Given the description of an element on the screen output the (x, y) to click on. 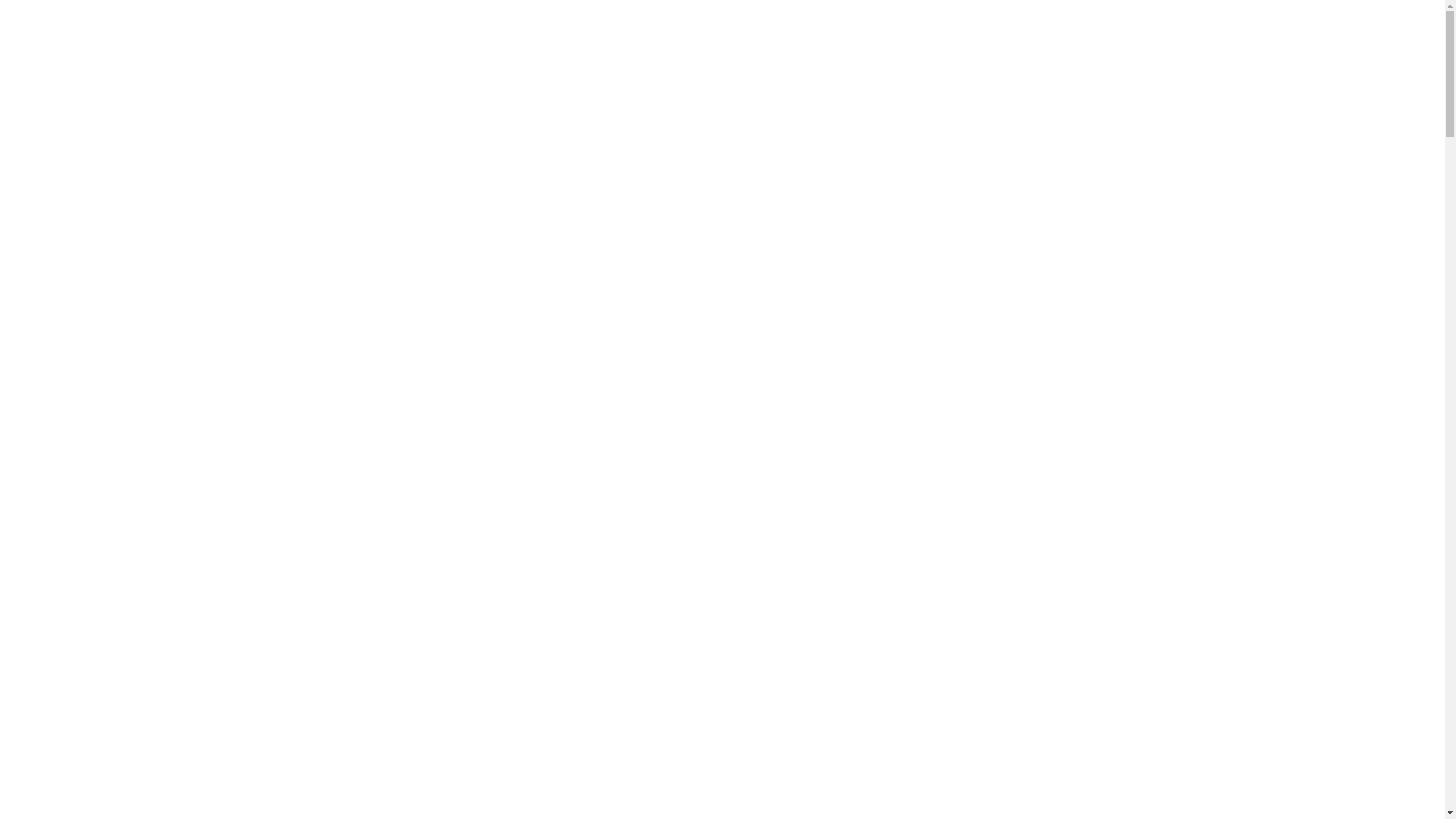
PLANS Element type: text (1000, 37)
CONTACT Element type: text (1368, 37)
BLOG Element type: text (1295, 37)
TESTIMONIALS Element type: text (1208, 37)
BUILD PROCESS Element type: text (1094, 37)
LATEST BUILDS Element type: text (909, 37)
ABOUT Element type: text (817, 37)
